Given the description of an element on the screen output the (x, y) to click on. 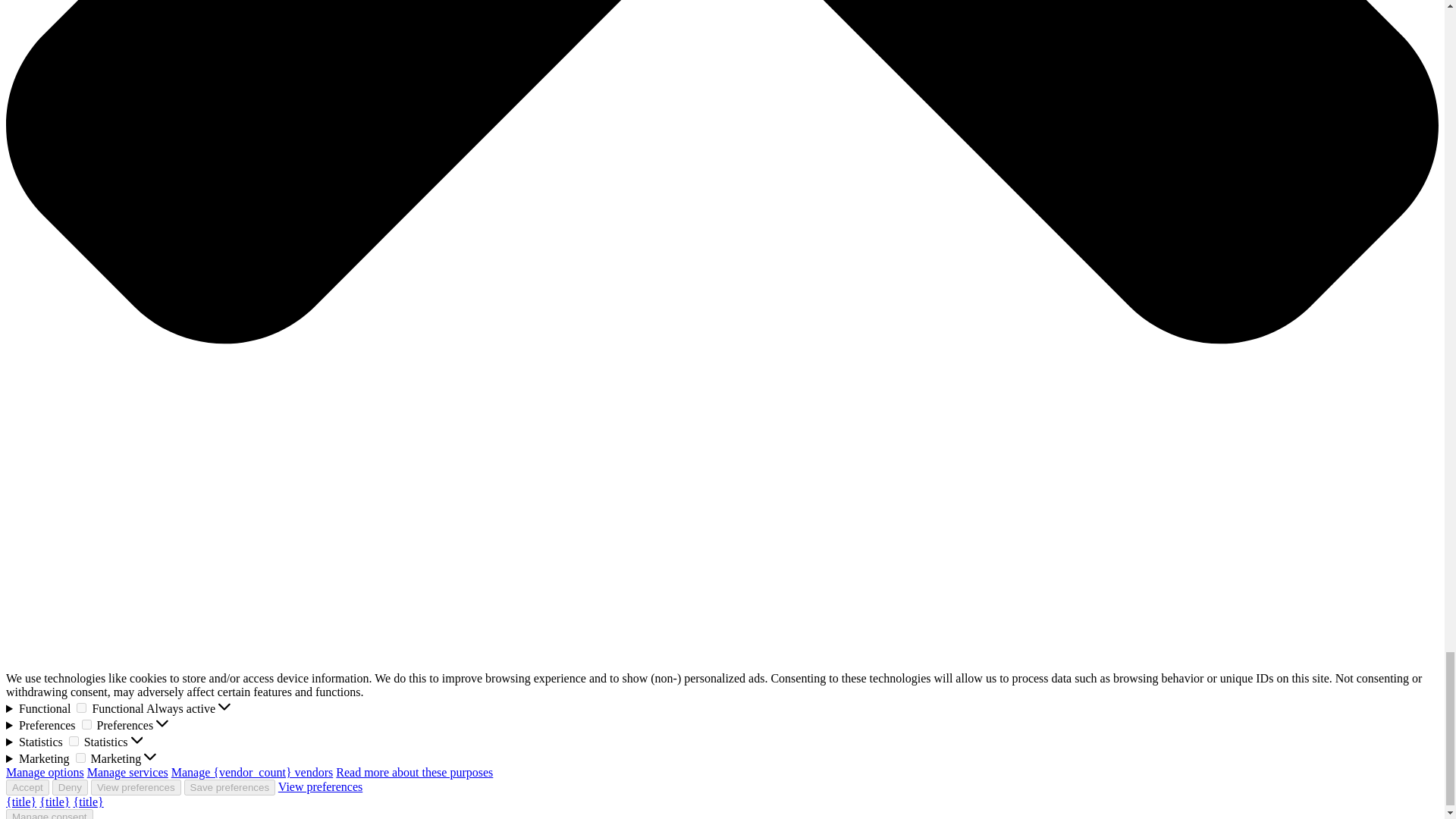
1 (81, 707)
1 (80, 757)
1 (73, 741)
1 (86, 724)
